Given the description of an element on the screen output the (x, y) to click on. 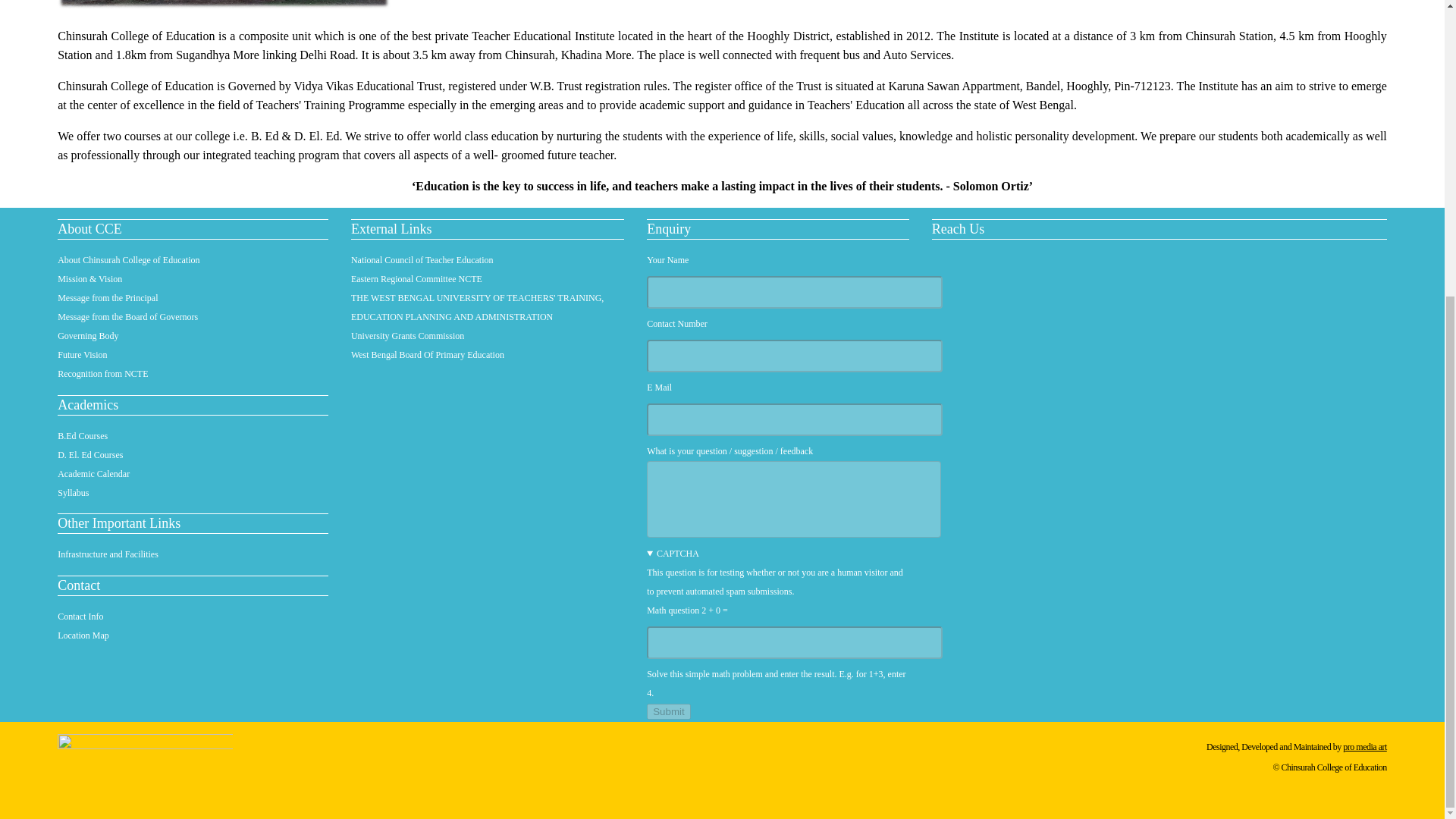
B.Ed Courses (82, 435)
Message from the Board of Governors (128, 317)
Syllabus (73, 492)
Message from the Principal (107, 297)
Infrastructure and Facilities (108, 553)
Submit (668, 711)
Academic Calendar (93, 473)
Contact Info (80, 615)
Recognition from NCTE (103, 373)
D. El. Ed Courses (90, 454)
Governing Body (87, 335)
About Chinsurah College of Education (128, 259)
Future Vision (82, 354)
